Given the description of an element on the screen output the (x, y) to click on. 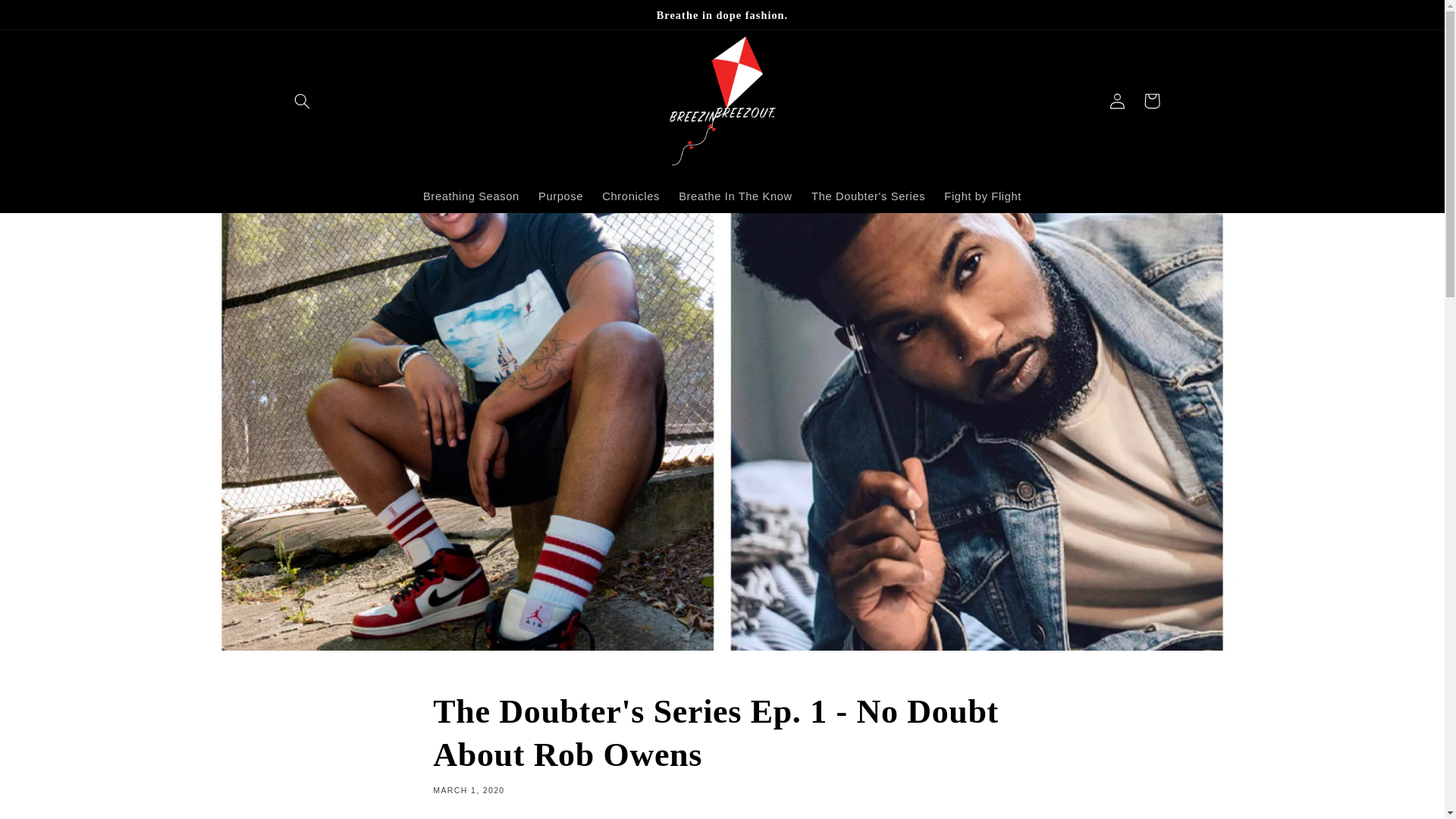
Skip to content (48, 18)
Cart (1151, 100)
The Doubter's Series (868, 195)
Chronicles (630, 195)
Breathing Season (470, 195)
Breathe In The Know (735, 195)
Log in (1116, 100)
Purpose (560, 195)
Fight by Flight (982, 195)
